Given the description of an element on the screen output the (x, y) to click on. 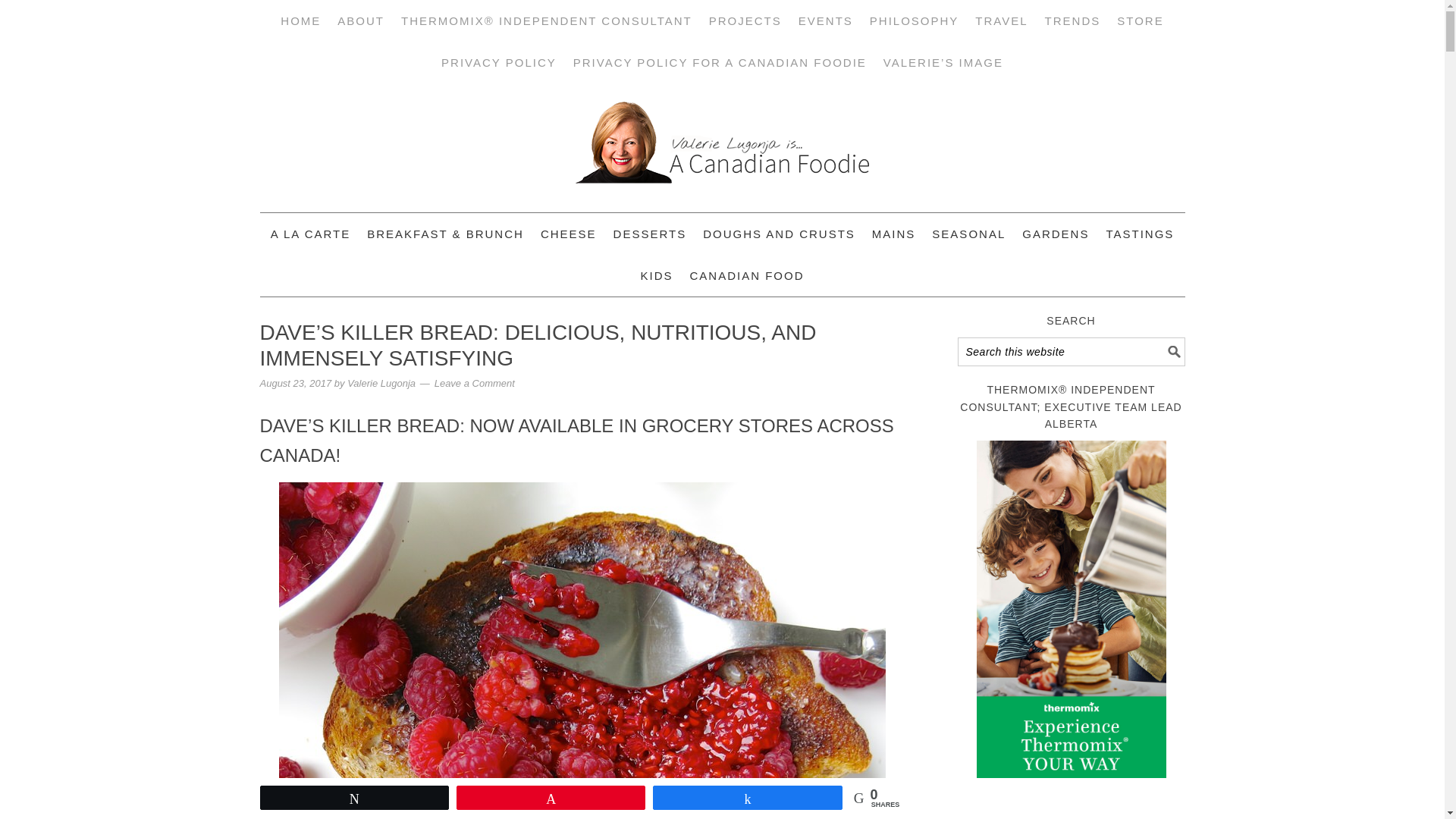
HOME (301, 20)
PROJECTS (745, 20)
EVENTS (825, 20)
ABOUT (360, 20)
